Given the description of an element on the screen output the (x, y) to click on. 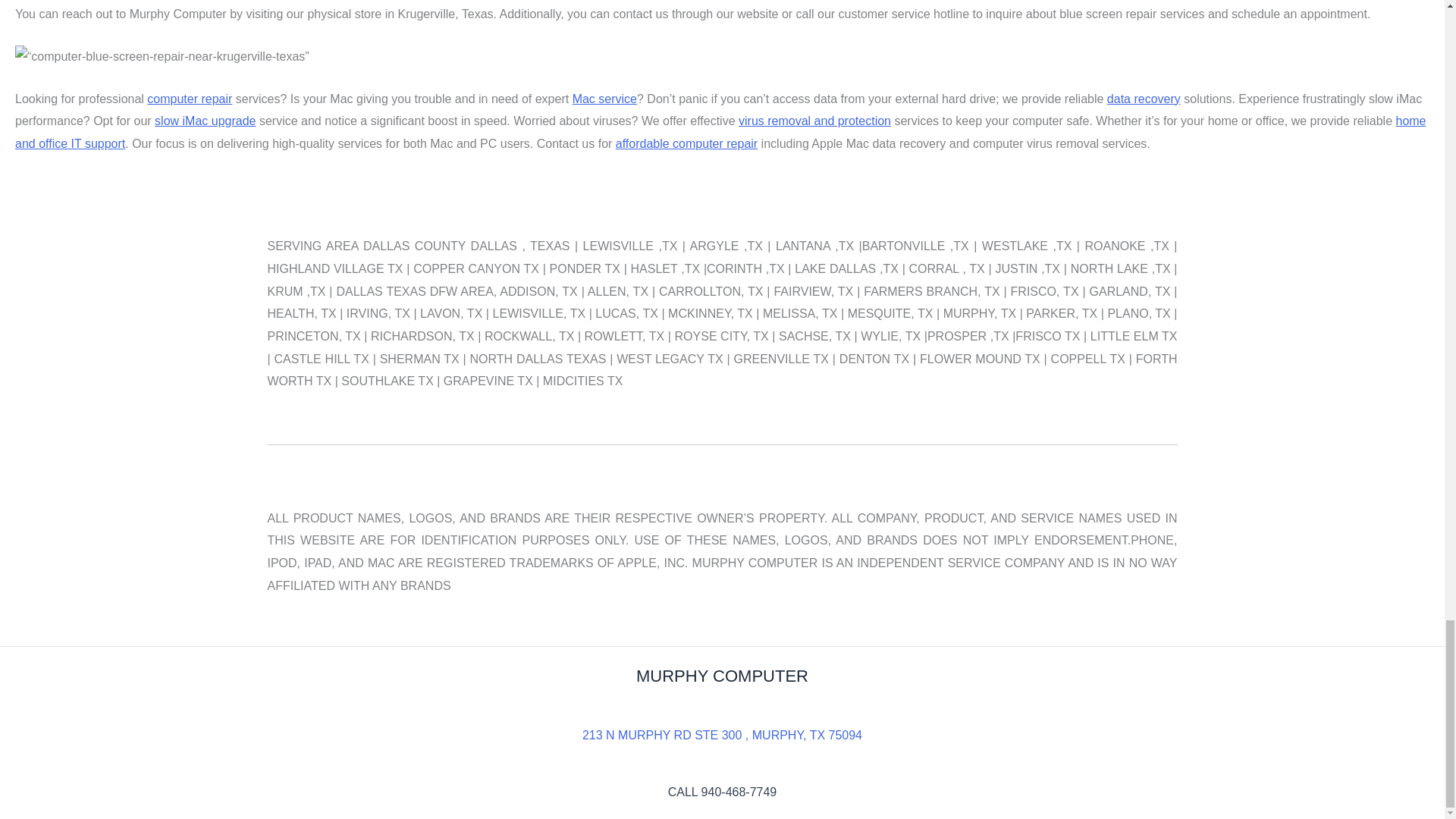
data recovery (1143, 98)
computer repair (189, 98)
affordable computer repair (686, 143)
home and office IT support (720, 131)
213 N MURPHY RD STE 300 , MURPHY, TX 75094 (721, 735)
Mac service (604, 98)
slow iMac upgrade (205, 120)
virus removal and protection (814, 120)
